Given the description of an element on the screen output the (x, y) to click on. 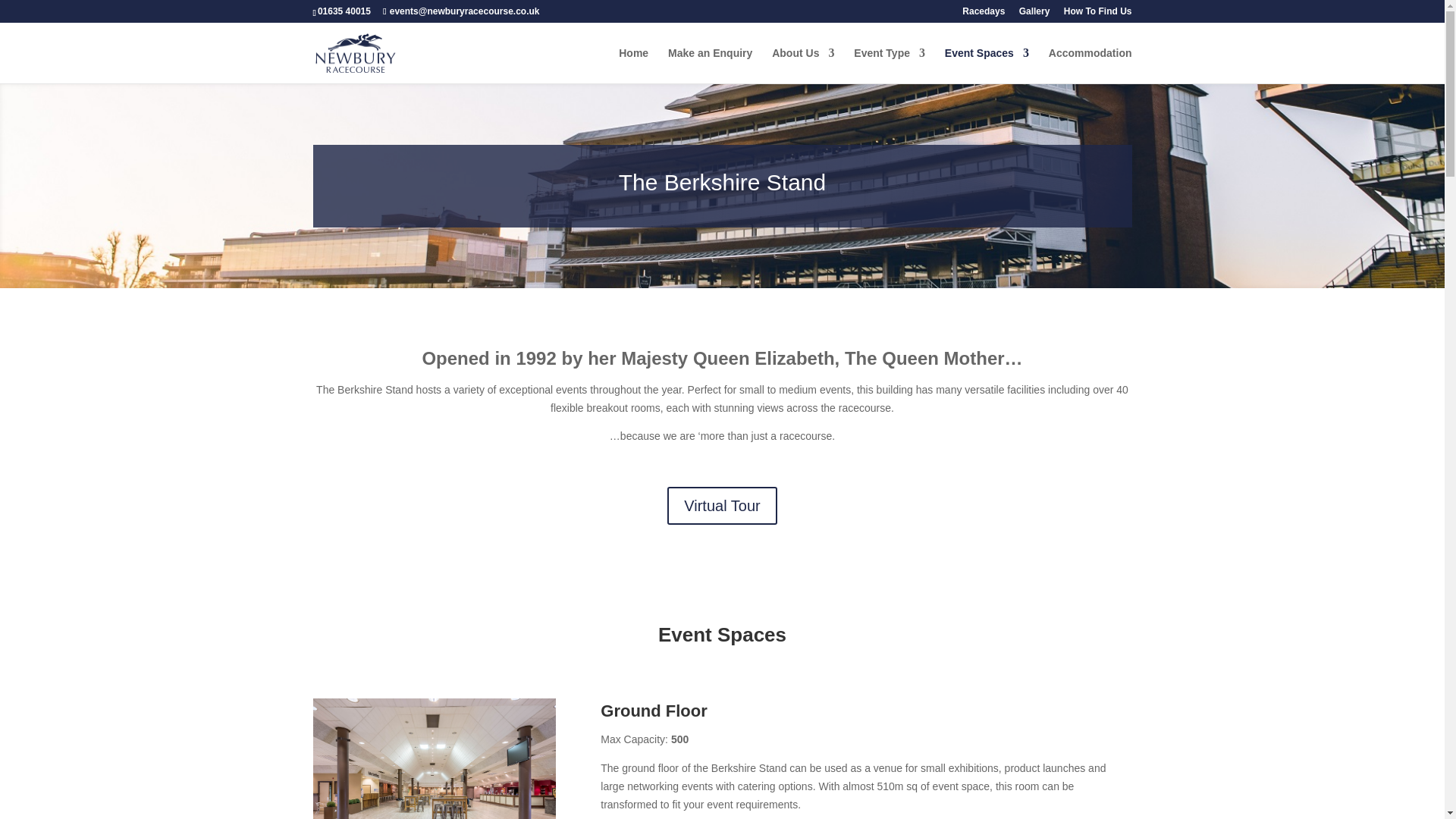
How To Find Us (1098, 14)
Event Type (888, 65)
Make an Enquiry (710, 65)
Gallery (1034, 14)
Accommodation (1090, 65)
Event Spaces (986, 65)
About Us (802, 65)
Racedays (983, 14)
